Given the description of an element on the screen output the (x, y) to click on. 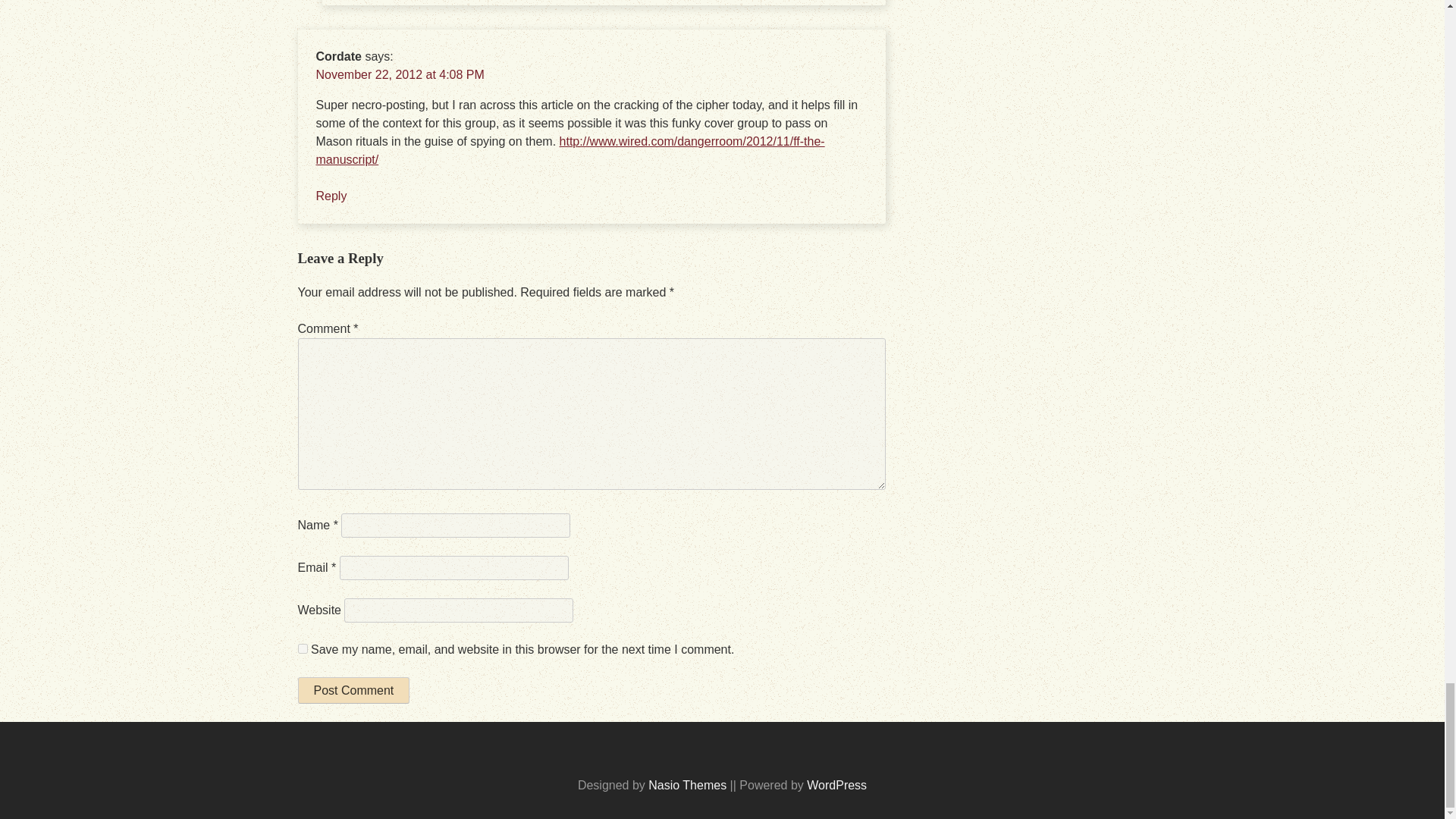
yes (302, 648)
Post Comment (353, 690)
